Given the description of an element on the screen output the (x, y) to click on. 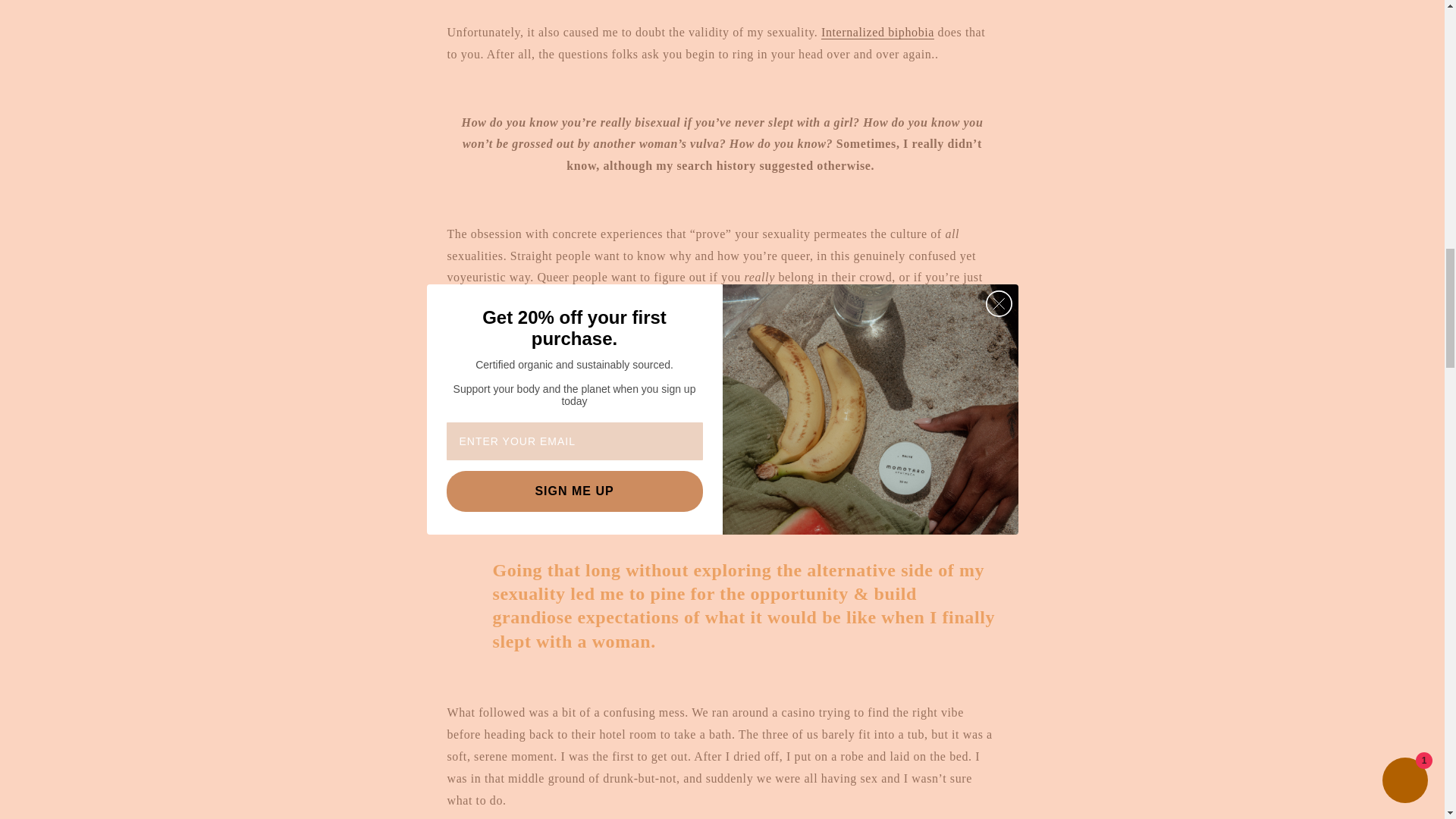
The 3 Most Important Factors in All Open Relationships (510, 410)
